Given the description of an element on the screen output the (x, y) to click on. 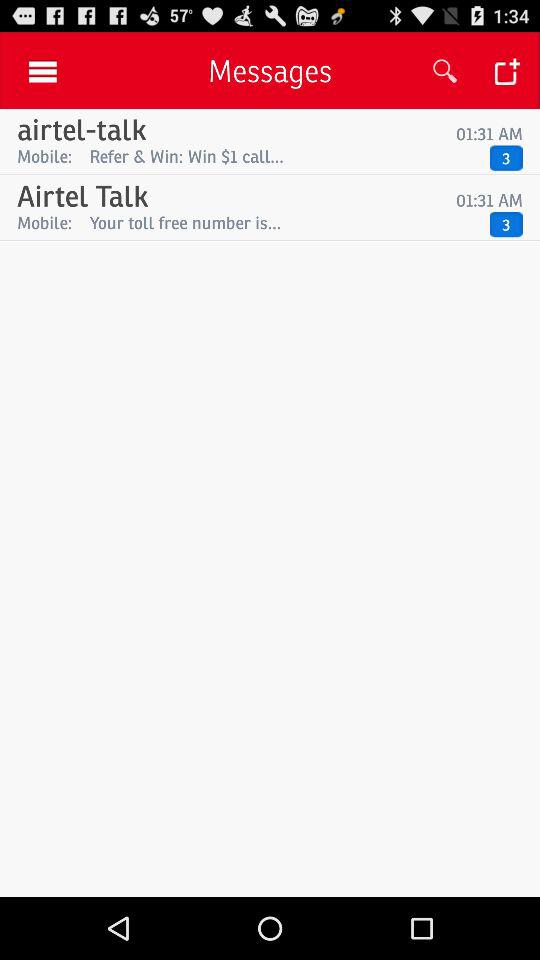
launch the item to the right of messages item (444, 70)
